Given the description of an element on the screen output the (x, y) to click on. 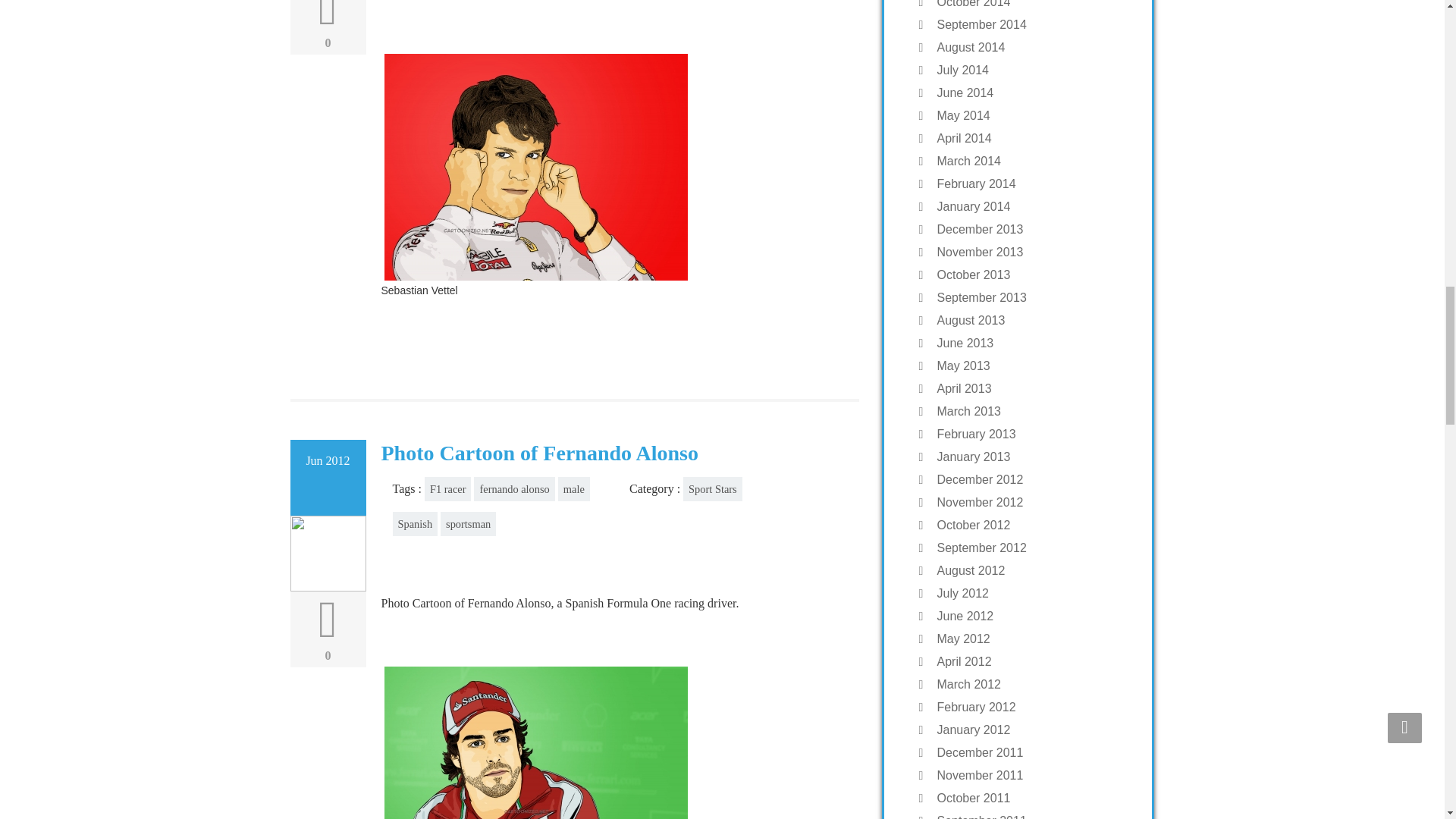
Photo Cartoon of fernando alonso by cartoonized.net (535, 741)
cartoon photo of sebastian vettel by cartoonized.net (535, 166)
Sebastian Vettel (617, 173)
Fernando Alonso (617, 741)
